Given the description of an element on the screen output the (x, y) to click on. 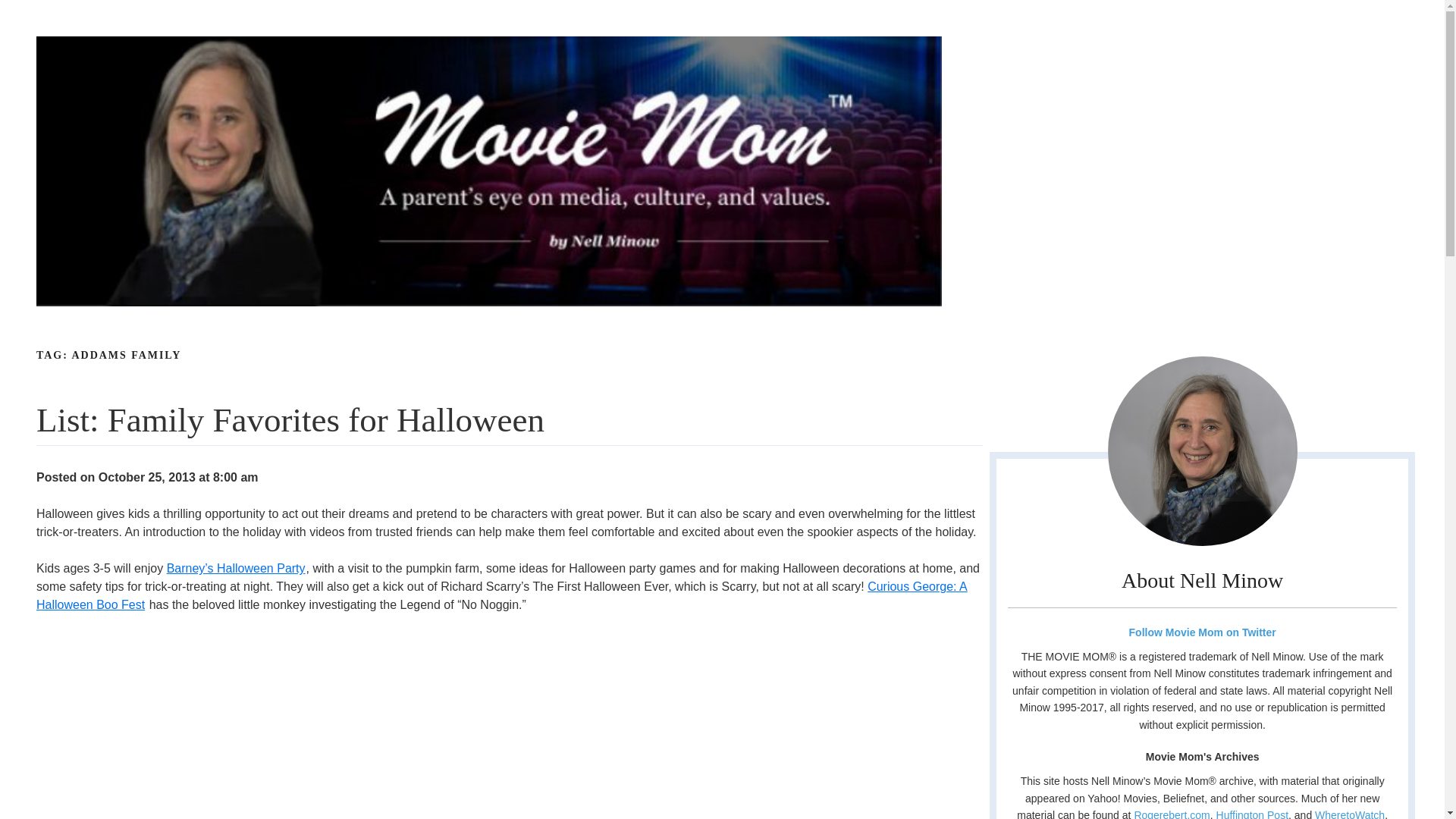
WheretoWatch (1349, 814)
Follow Movie Mom on Twitter (1201, 632)
Huffington Post (1251, 814)
Spookley: The Square Pumpkin - Trailer (234, 725)
Curious George: A Halloween Boo Fest (502, 594)
Rogerebert.com (1171, 814)
